Given the description of an element on the screen output the (x, y) to click on. 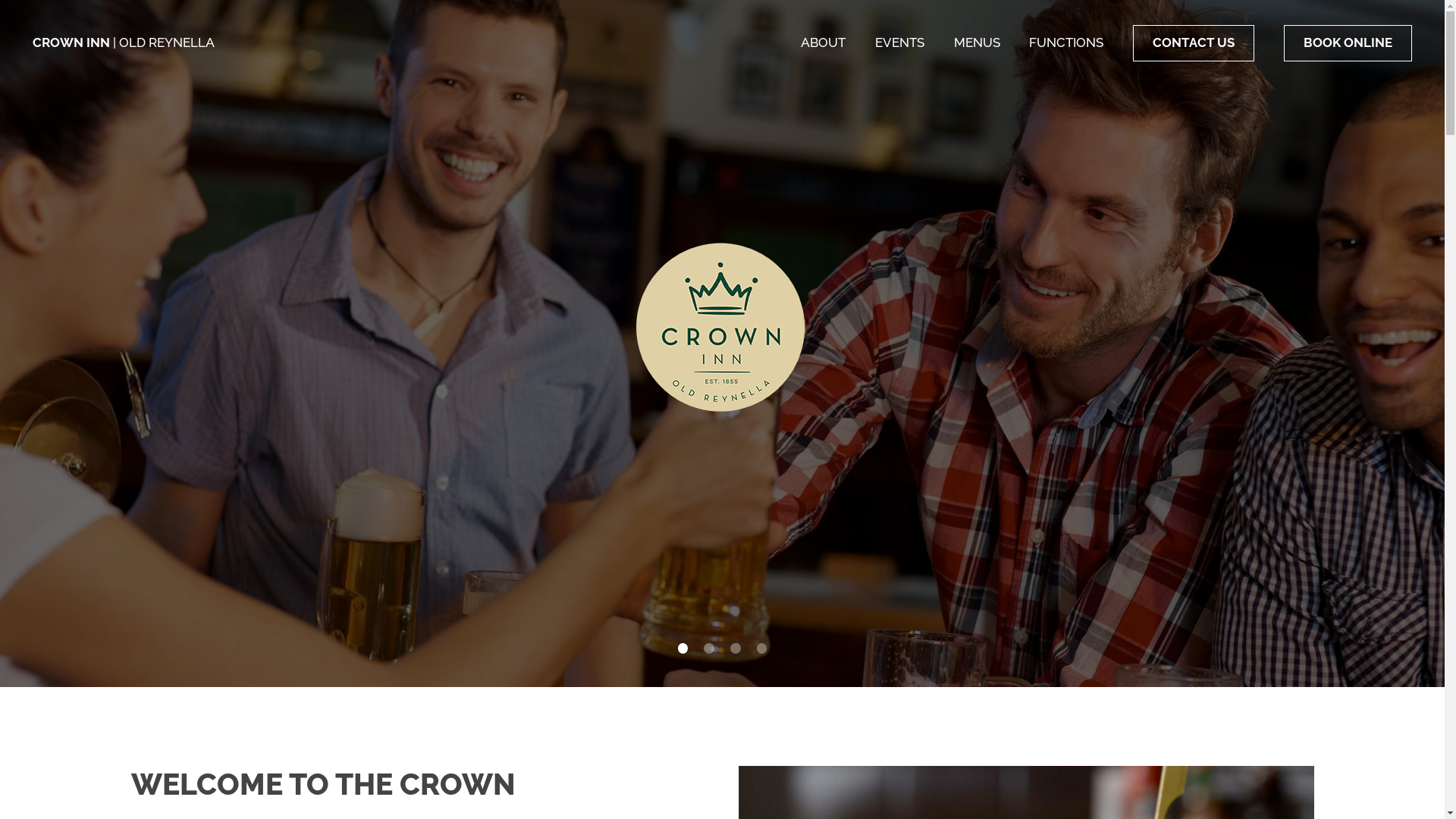
CONTACT US Element type: text (1193, 43)
ABOUT Element type: text (822, 42)
CROWN INN | OLD REYNELLA Element type: text (123, 42)
EVENTS Element type: text (899, 42)
BOOK ONLINE Element type: text (1347, 43)
MENUS Element type: text (976, 42)
FUNCTIONS Element type: text (1066, 42)
